Given the description of an element on the screen output the (x, y) to click on. 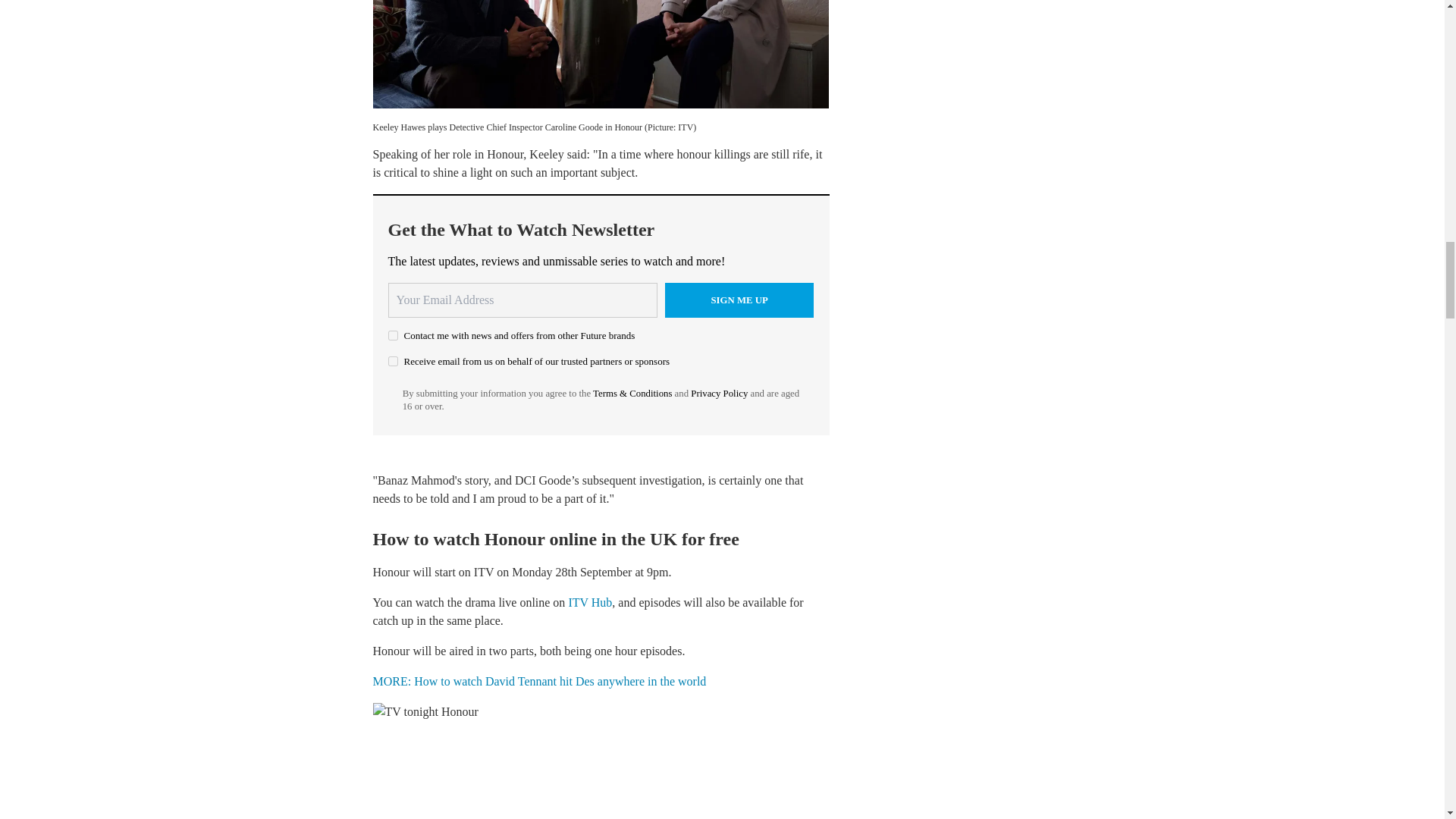
on (392, 361)
on (392, 335)
Sign me up (739, 299)
